Given the description of an element on the screen output the (x, y) to click on. 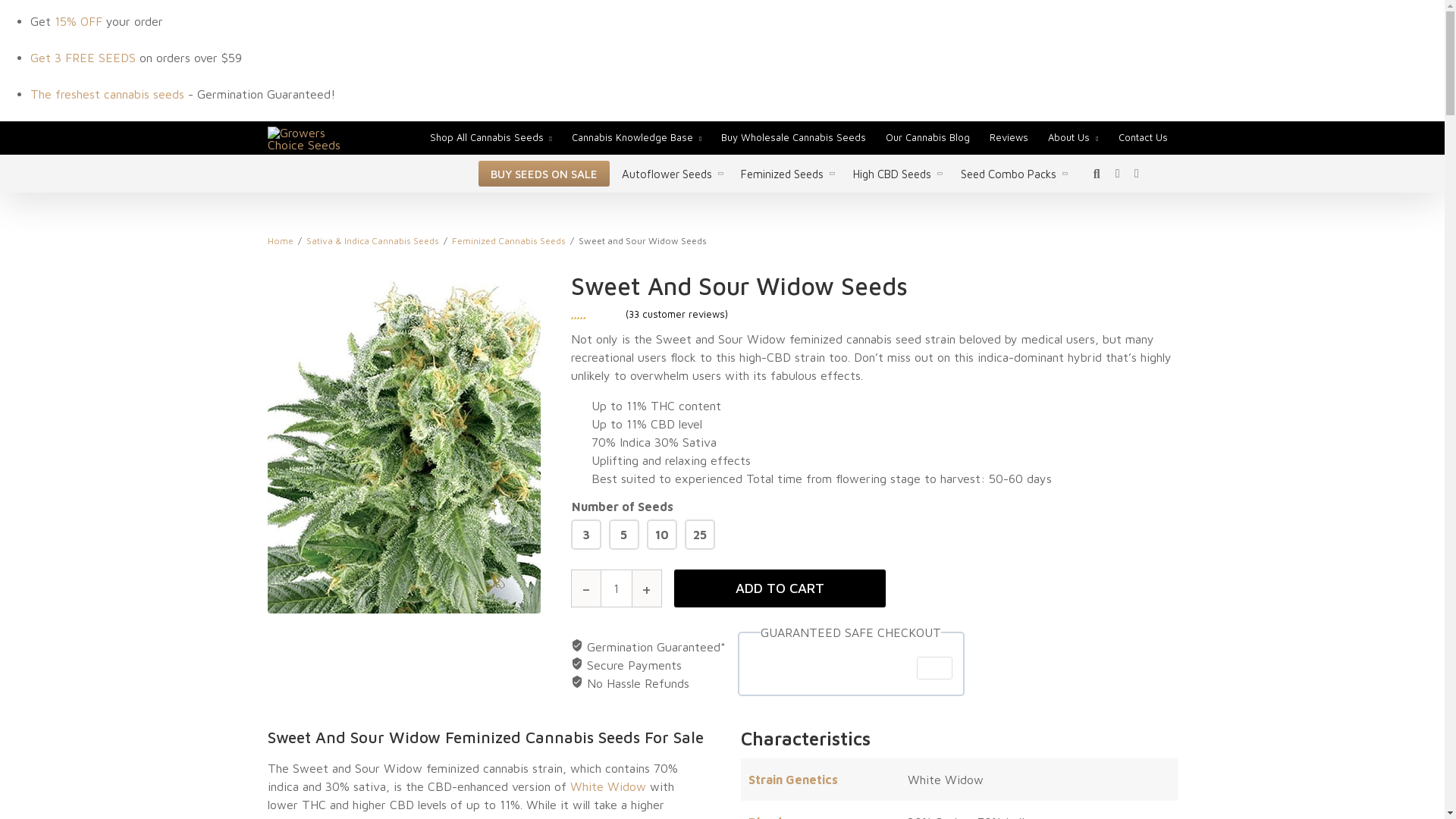
Check Mark (576, 663)
Shop All Cannabis Seeds (486, 137)
Our Cannabis Blog (927, 137)
Autoflower Seeds (666, 173)
Check Mark (576, 645)
Shop All Cannabis Seeds (486, 137)
Buy Wholesale Cannabis Seeds (793, 137)
Cannabis Knowledge Base (633, 137)
About Us (1069, 137)
The freshest cannabis seeds (107, 93)
